Given the description of an element on the screen output the (x, y) to click on. 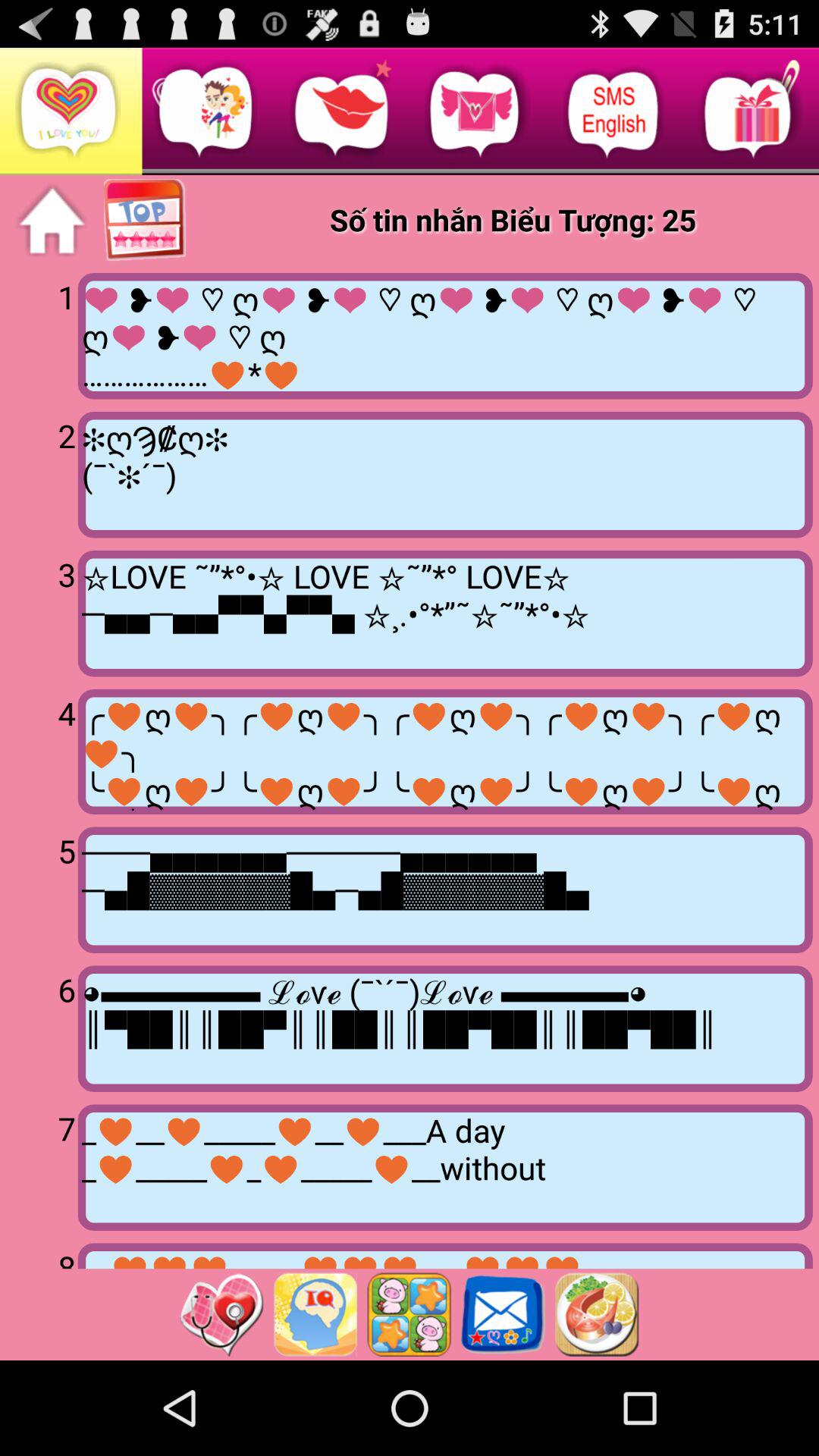
press the app above the 5 icon (444, 751)
